Given the description of an element on the screen output the (x, y) to click on. 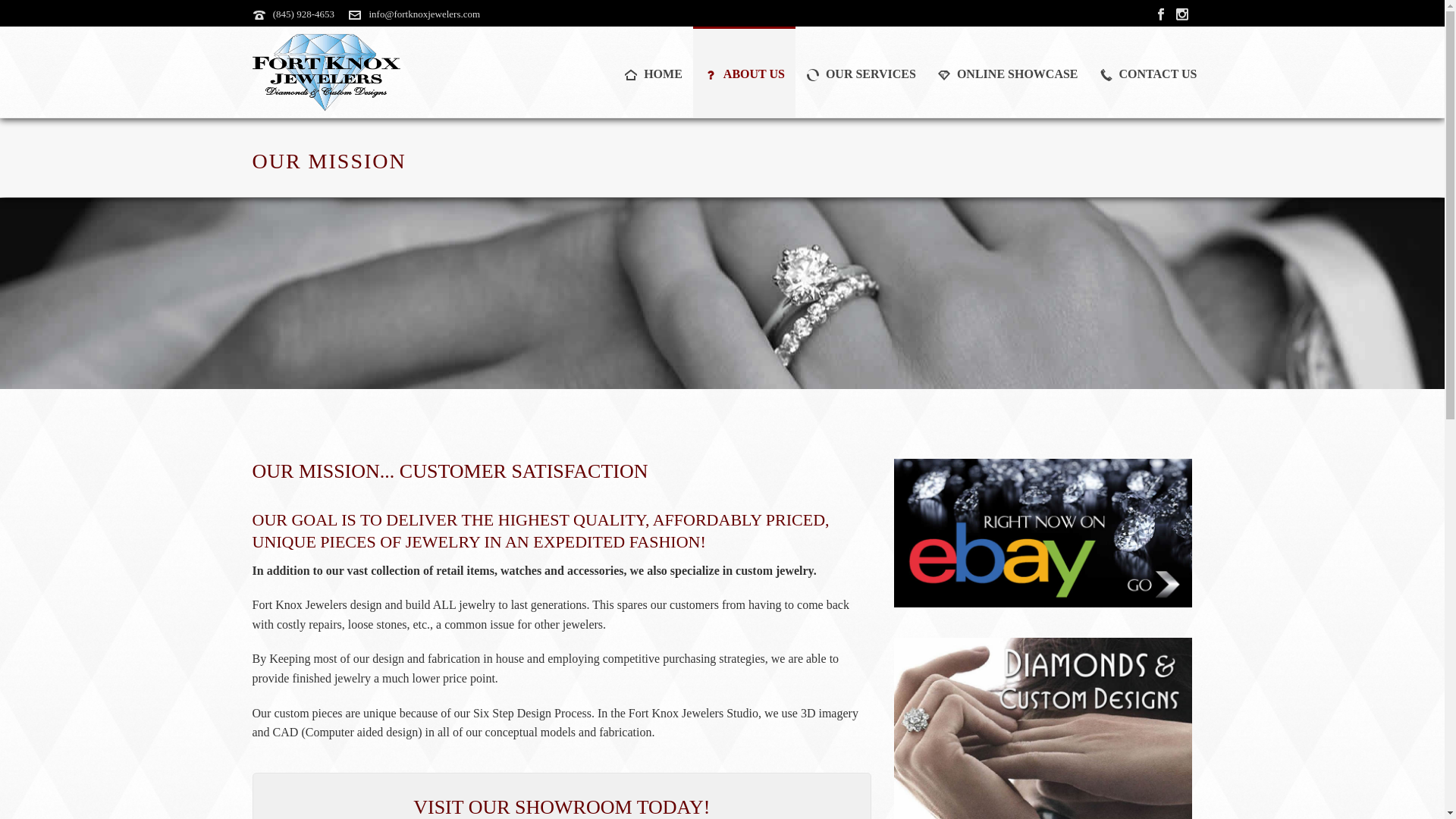
CONTACT US (1148, 71)
OUR SERVICES (860, 71)
ONLINE SHOWCASE (1007, 71)
CONTACT US (1148, 71)
OUR SERVICES (860, 71)
ABOUT US (743, 71)
ABOUT US (743, 71)
ONLINE SHOWCASE (1007, 71)
